Given the description of an element on the screen output the (x, y) to click on. 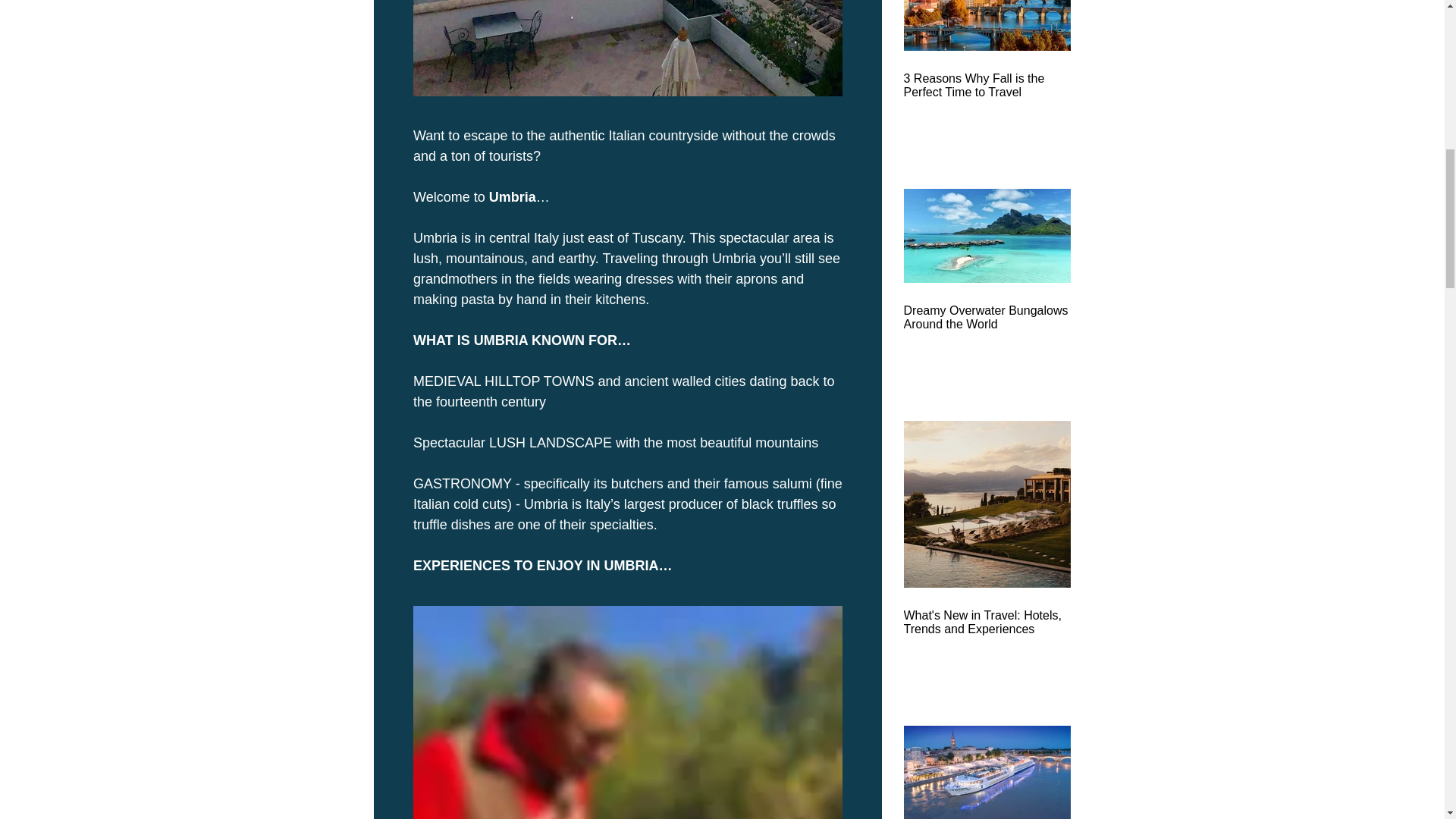
What's New in Travel: Hotels, Trends and Experiences (987, 622)
Dreamy Overwater Bungalows Around the World (987, 317)
3 Reasons Why Fall is the Perfect Time to Travel (987, 85)
